Given the description of an element on the screen output the (x, y) to click on. 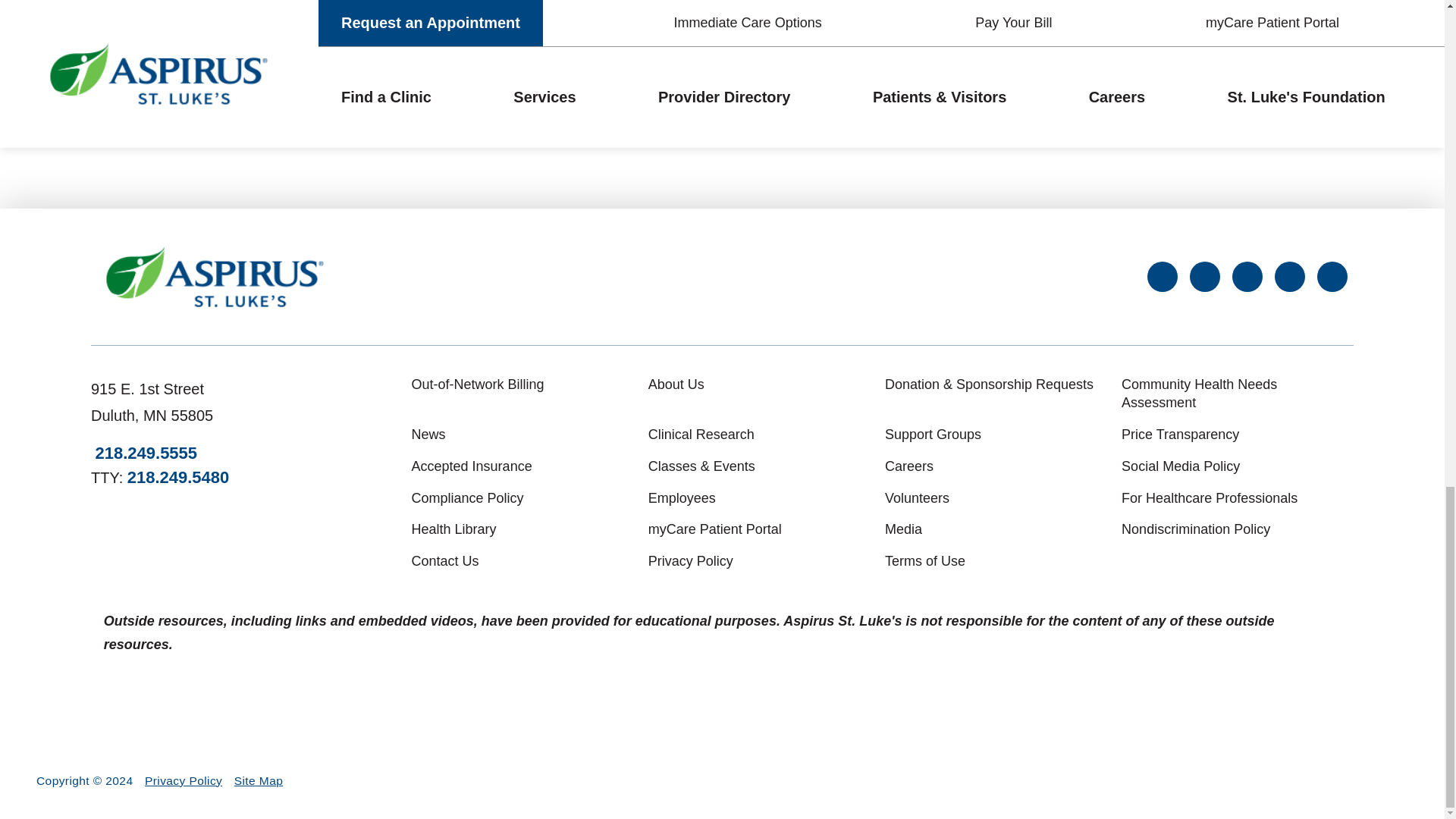
Instagram (1246, 276)
LinkedIn (1289, 276)
Twitter (1204, 276)
YouTube (1332, 276)
Aspirus St. Luke's (214, 277)
Facebook (1162, 276)
